Given the description of an element on the screen output the (x, y) to click on. 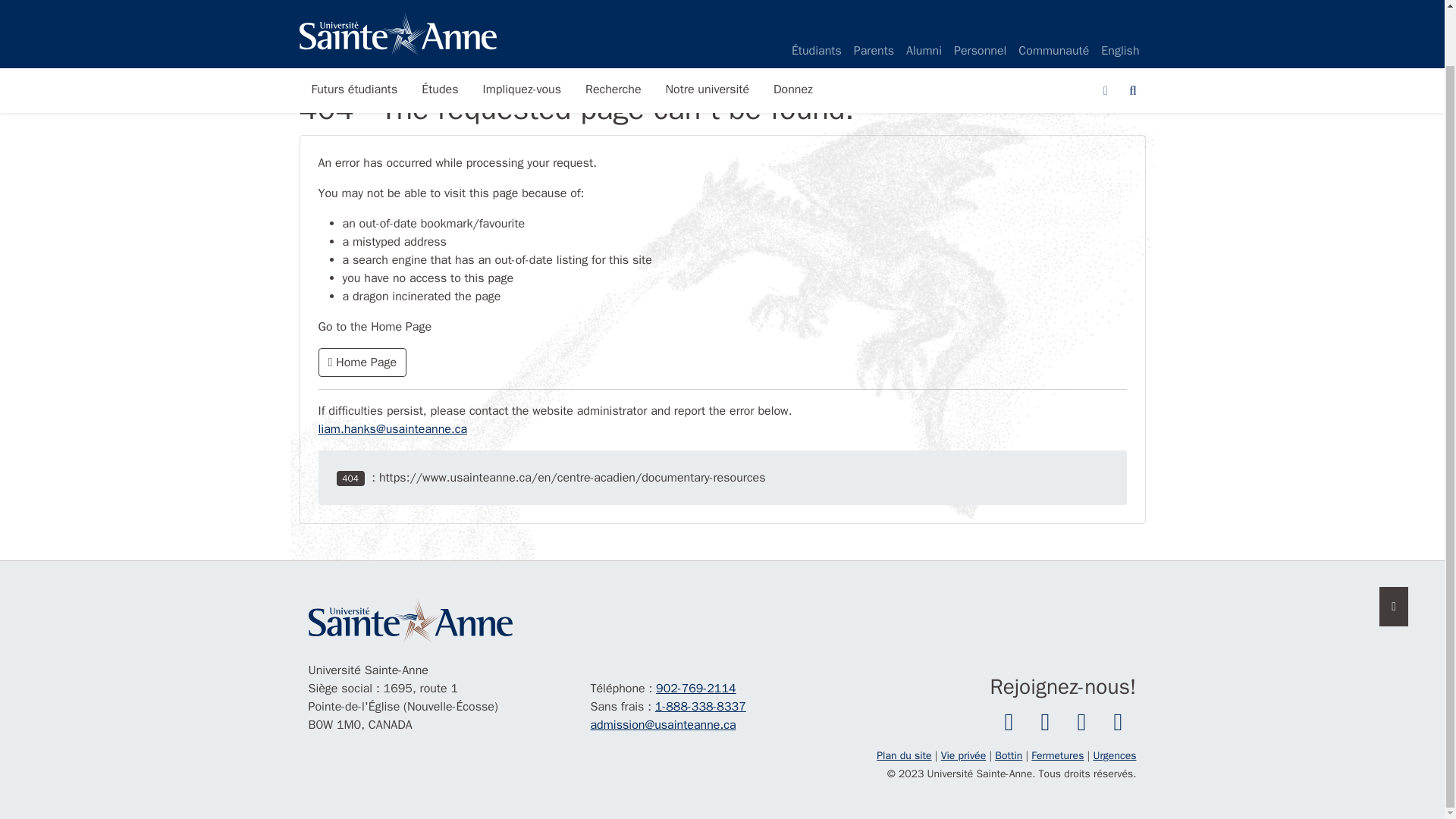
Impliquez-vous (521, 30)
Donnez (793, 30)
Parents (873, 4)
English (1119, 4)
LinkedIn (1117, 722)
Personnel (979, 4)
Recherche (612, 30)
Alumni (923, 4)
Facebook (1008, 722)
YouTube (1080, 722)
